Given the description of an element on the screen output the (x, y) to click on. 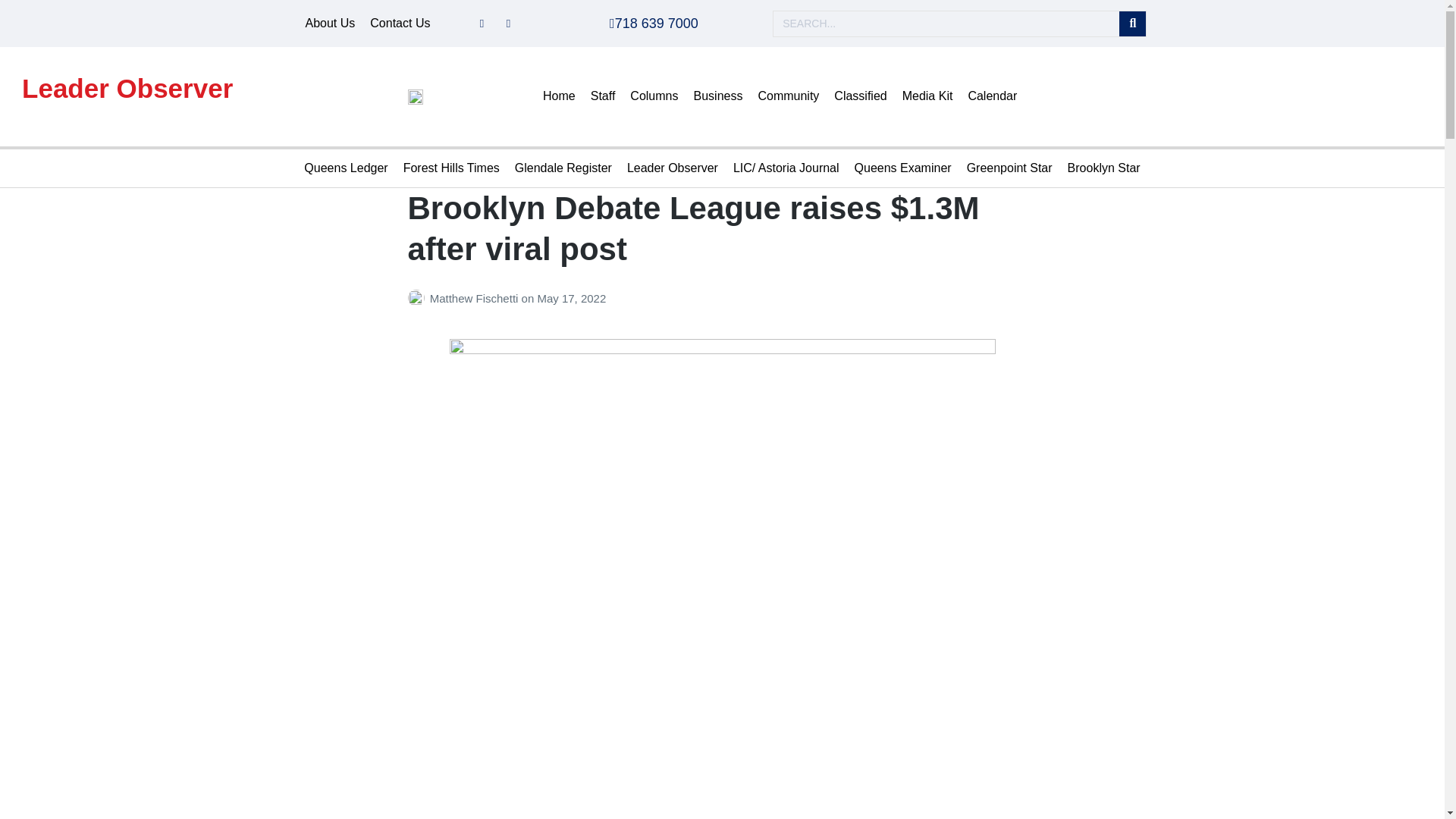
Contact Us (400, 23)
Community (788, 96)
Staff (603, 96)
Business (717, 96)
Home (559, 96)
Posts by Matthew Fischetti (418, 297)
About Us (329, 23)
Leader Observer (126, 88)
Columns (654, 96)
718 639 7000 (653, 23)
